Given the description of an element on the screen output the (x, y) to click on. 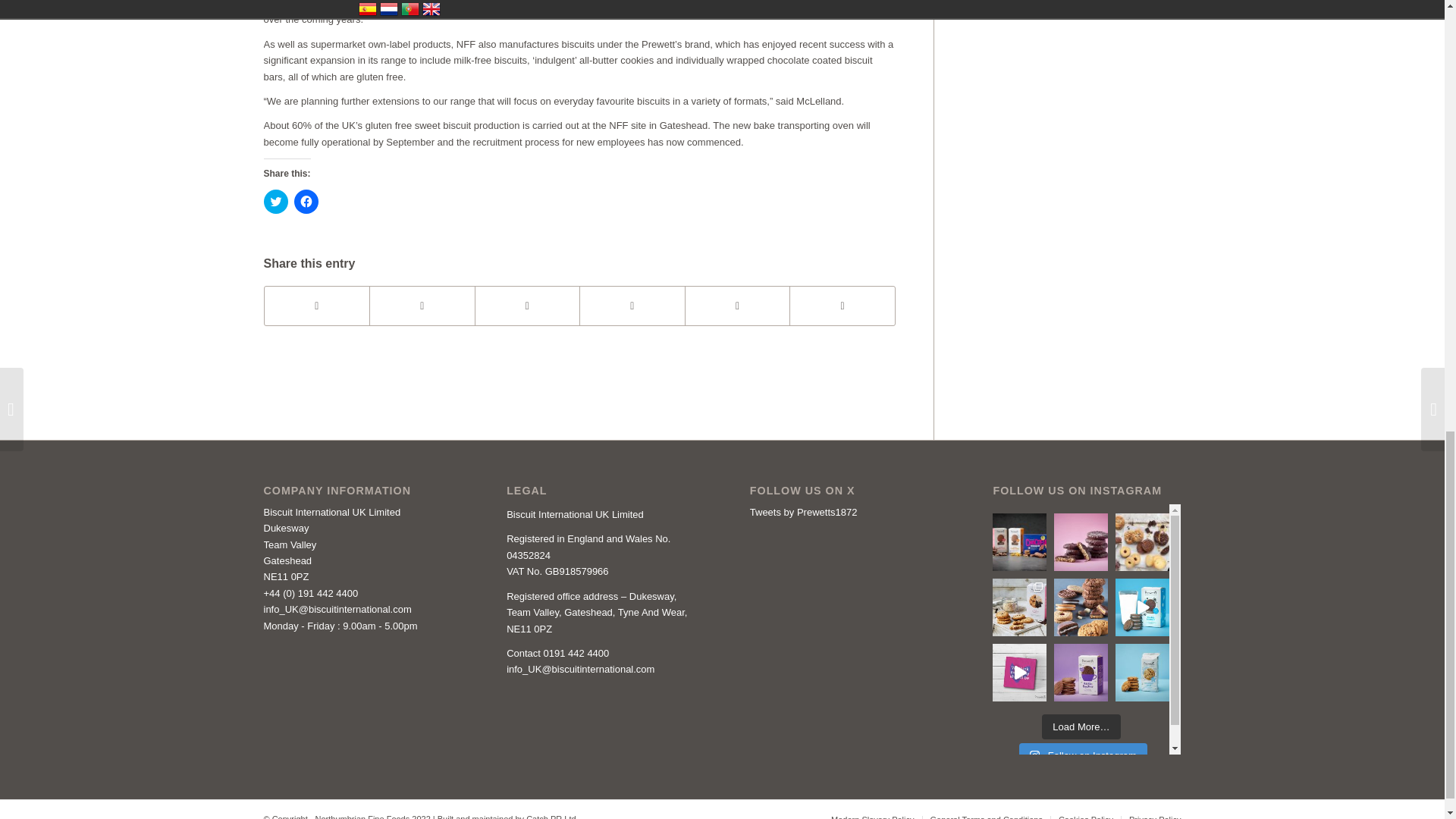
Click to share on Facebook (306, 201)
Click to share on Twitter (275, 201)
